Given the description of an element on the screen output the (x, y) to click on. 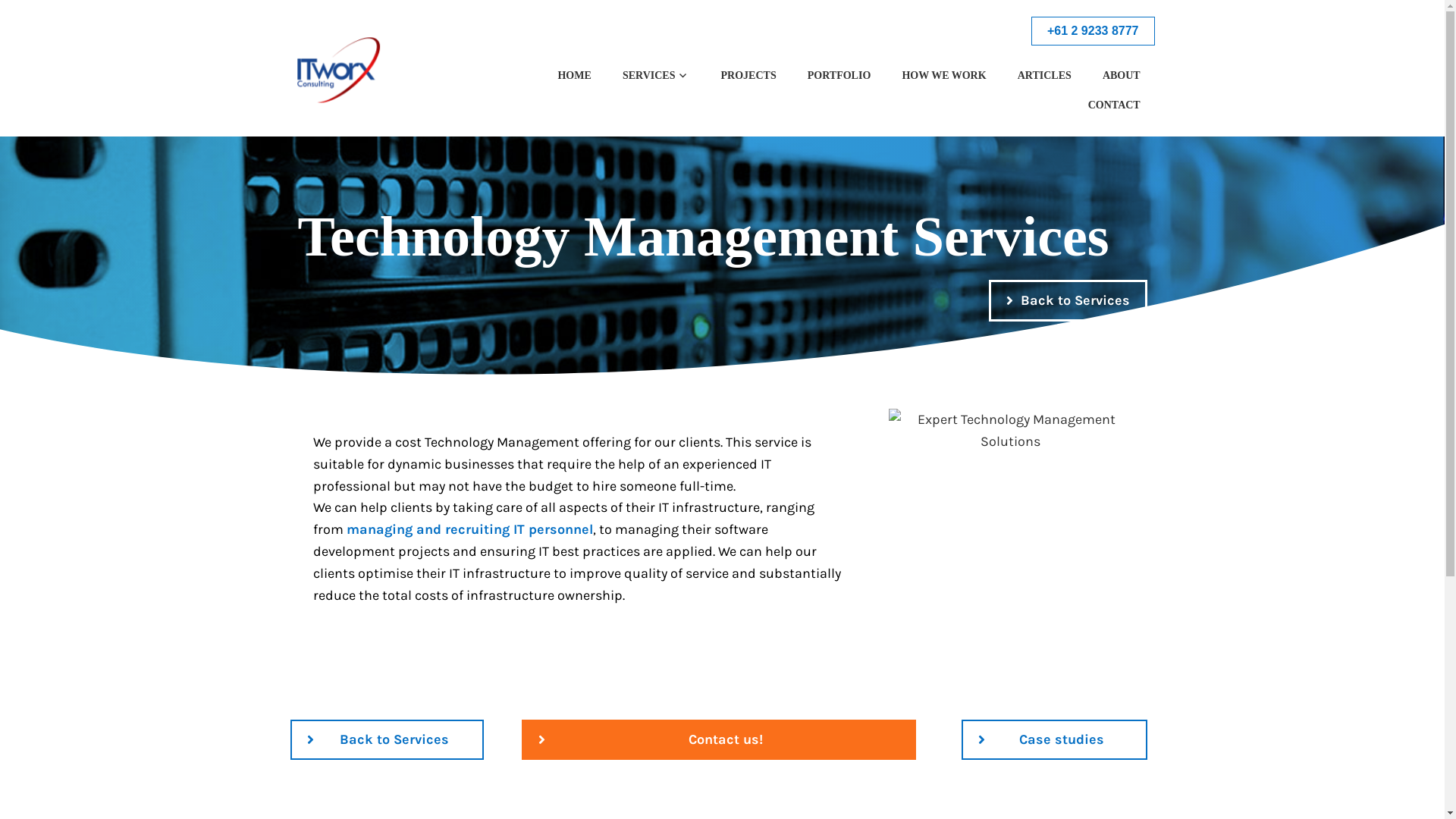
PROJECTS Element type: text (748, 75)
HOW WE WORK Element type: text (944, 75)
Contact us! Element type: text (718, 739)
CONTACT Element type: text (1114, 104)
Back to Services Element type: text (1067, 300)
managing and recruiting IT personnel Element type: text (468, 528)
PORTFOLIO Element type: text (838, 75)
SERVICES Element type: text (655, 75)
Case studies Element type: text (1054, 739)
ABOUT Element type: text (1120, 75)
Technology Management Solutions for Your Business Element type: hover (1009, 430)
+61 2 9233 8777 Element type: text (1092, 30)
HOME Element type: text (574, 75)
ARTICLES Element type: text (1044, 75)
Back to Services Element type: text (386, 739)
